Given the description of an element on the screen output the (x, y) to click on. 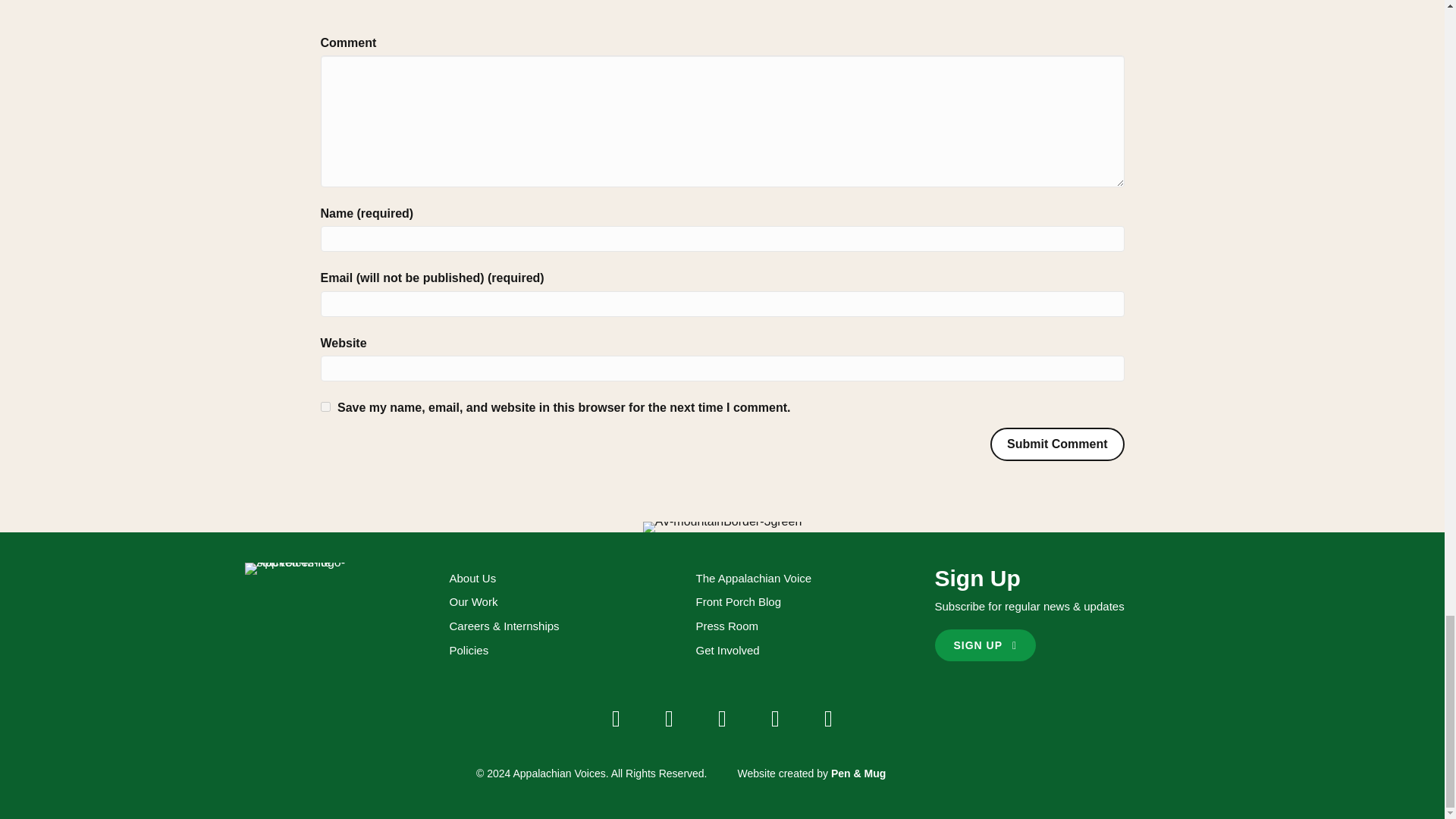
AV-mountainBorder-3green (722, 527)
Instagram (721, 719)
AppVoices-logo-stacked-white (304, 568)
Facebook (615, 719)
yes (325, 406)
Submit Comment (1057, 443)
